Given the description of an element on the screen output the (x, y) to click on. 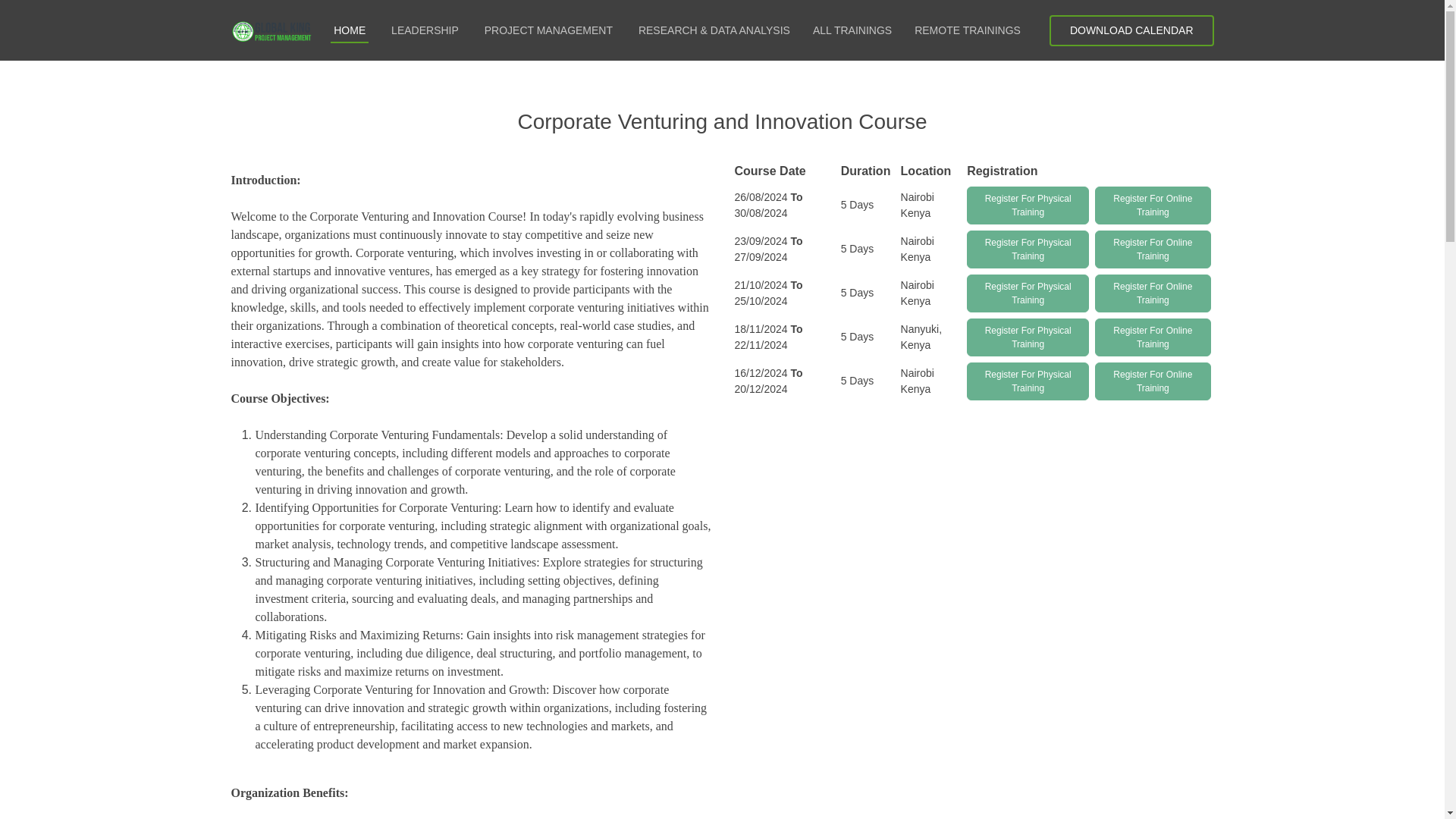
 PROJECT MANAGEMENT (547, 30)
 LEADERSHIP (423, 30)
DOWNLOAD CALENDAR (1131, 30)
Register For Online Training (1151, 381)
Register For Physical Training (1027, 247)
Register For Physical Training (1027, 381)
Register For Physical Training (1027, 336)
Register For Physical Training (1027, 291)
Register For Physical Training (1027, 205)
DOWNLOAD CALENDAR (1131, 30)
Register For Online Training (1151, 337)
Register For Online Training (1151, 249)
Register For Physical Training (1027, 379)
ALL TRAININGS (852, 30)
 LEADERSHIP (423, 30)
